Given the description of an element on the screen output the (x, y) to click on. 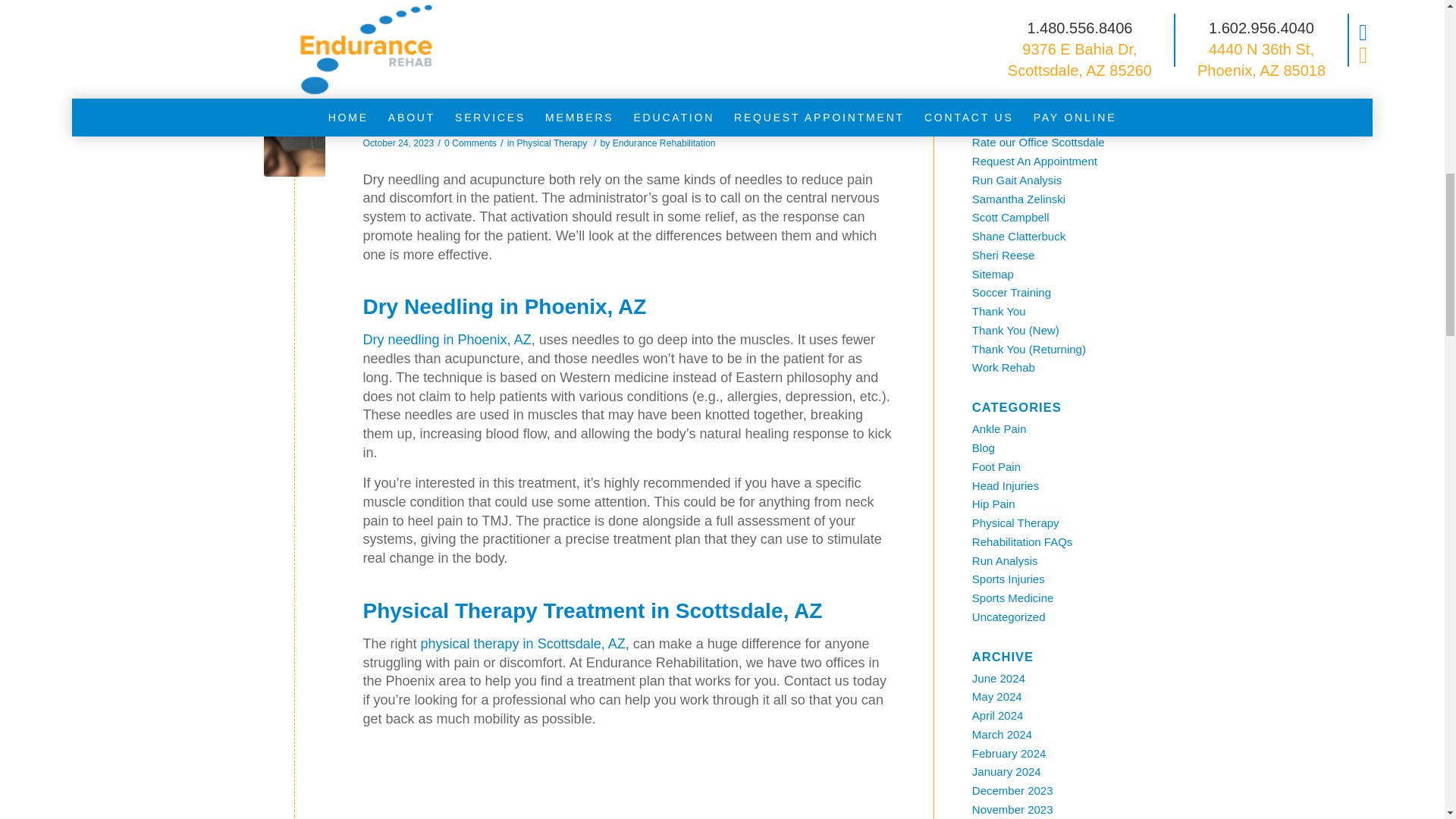
Posts by Endurance Rehabilitation (664, 143)
Is Dry Needling More Effective than Acupuncture? (293, 145)
